Given the description of an element on the screen output the (x, y) to click on. 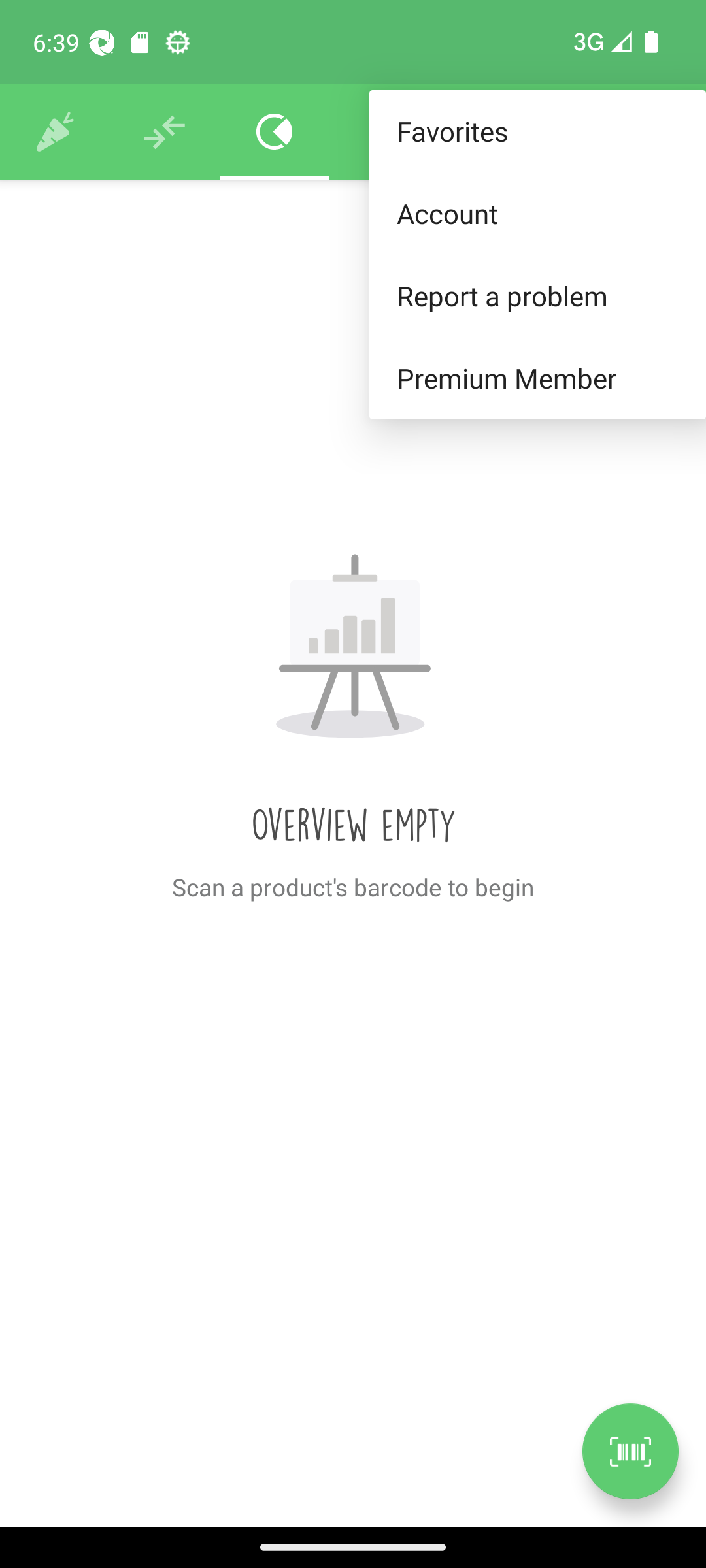
Favorites (537, 131)
Account (537, 213)
Report a problem (537, 295)
Premium Member (537, 378)
